Given the description of an element on the screen output the (x, y) to click on. 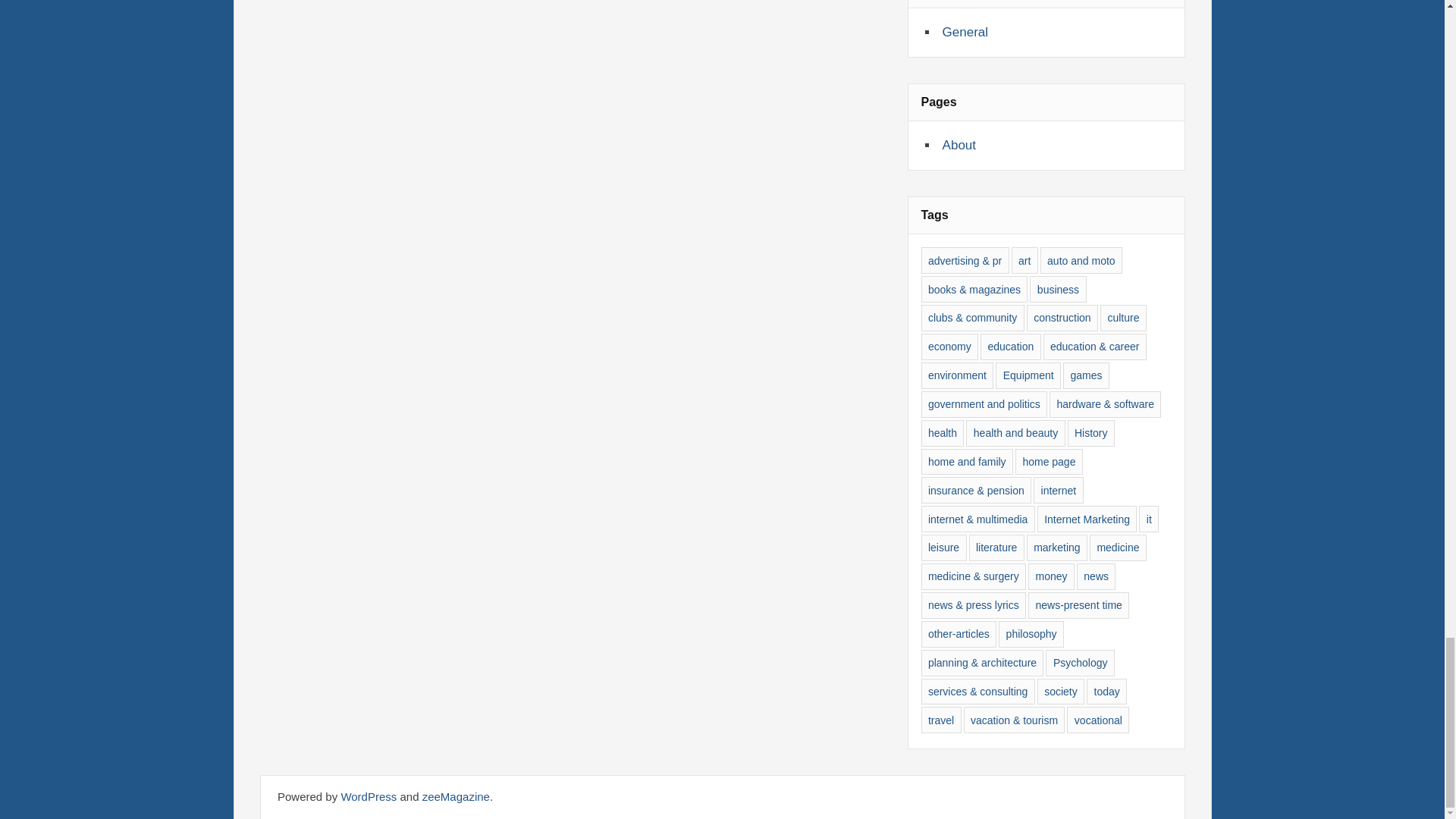
zeeMagazine WordPress Theme (455, 796)
WordPress (368, 796)
